Given the description of an element on the screen output the (x, y) to click on. 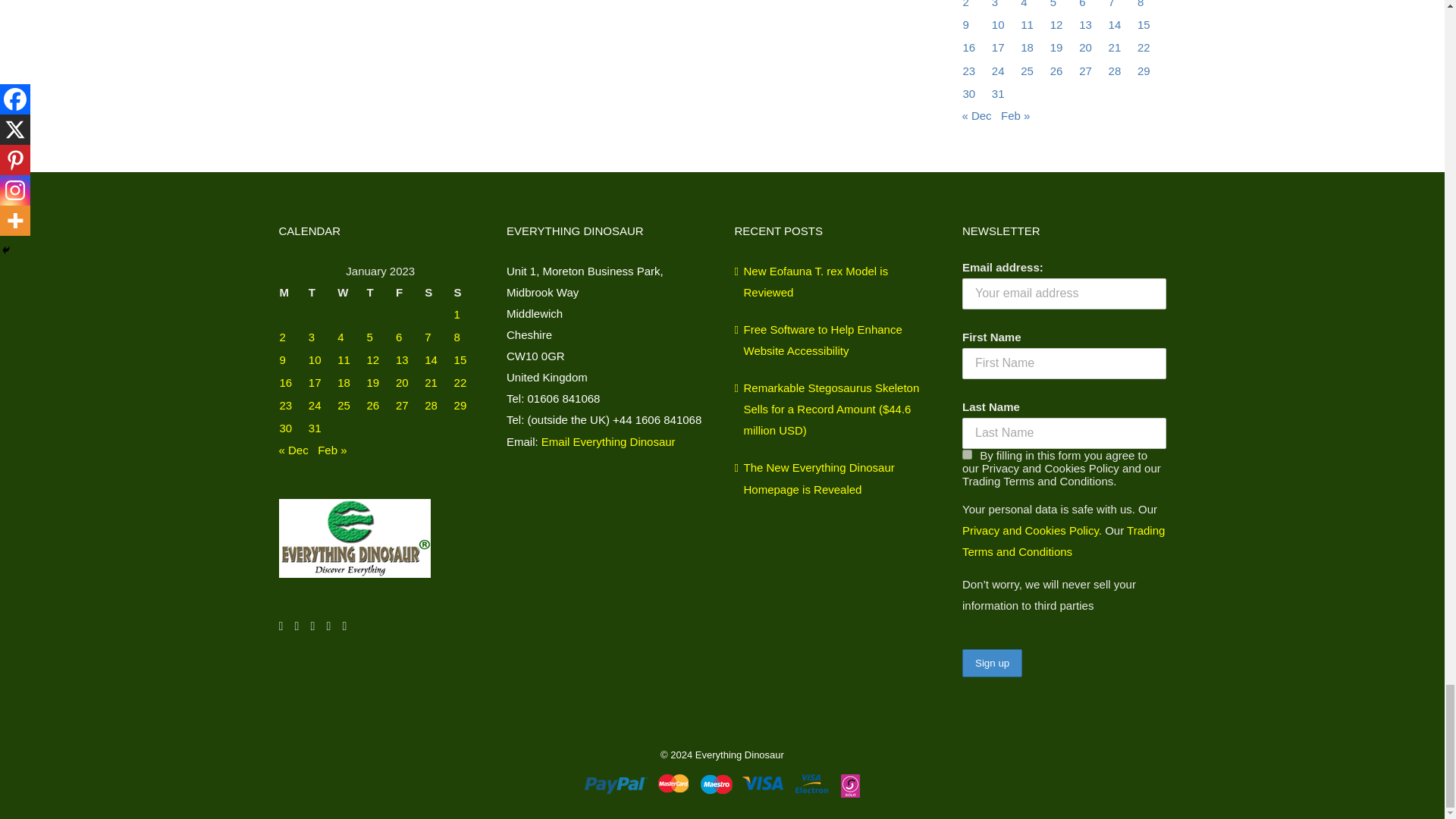
Sign up (992, 663)
subscribe (967, 454)
